Given the description of an element on the screen output the (x, y) to click on. 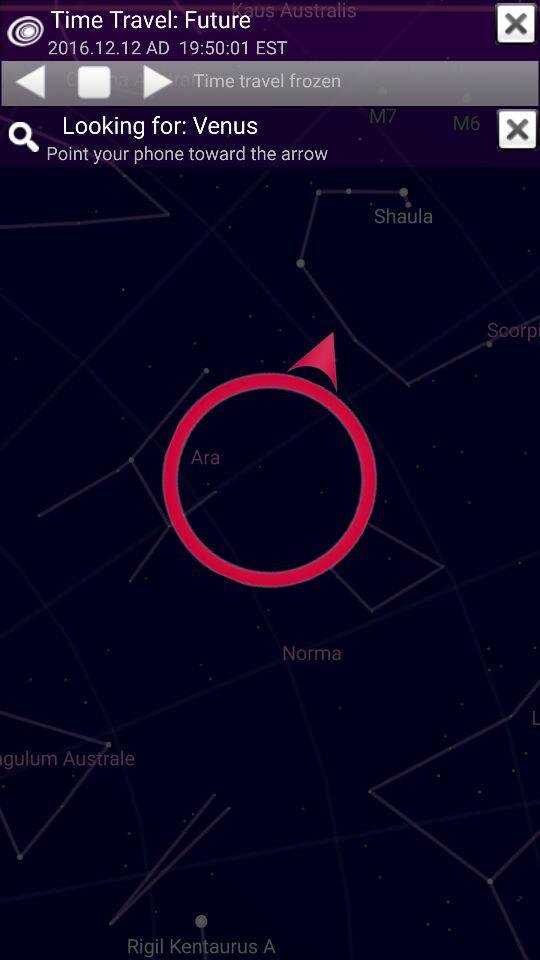
move forward (160, 81)
